Given the description of an element on the screen output the (x, y) to click on. 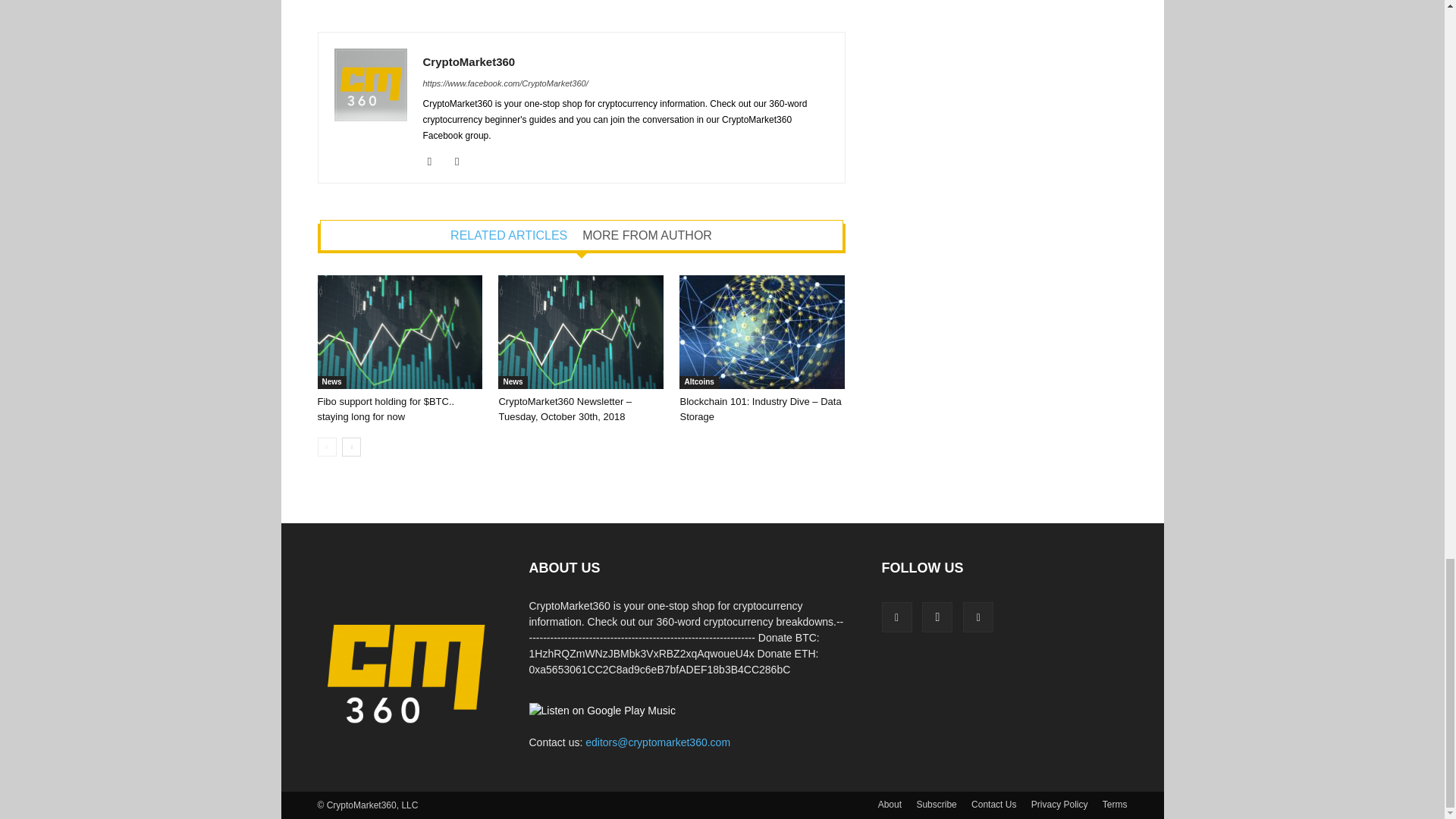
Facebook (435, 161)
Twitter (462, 161)
